Given the description of an element on the screen output the (x, y) to click on. 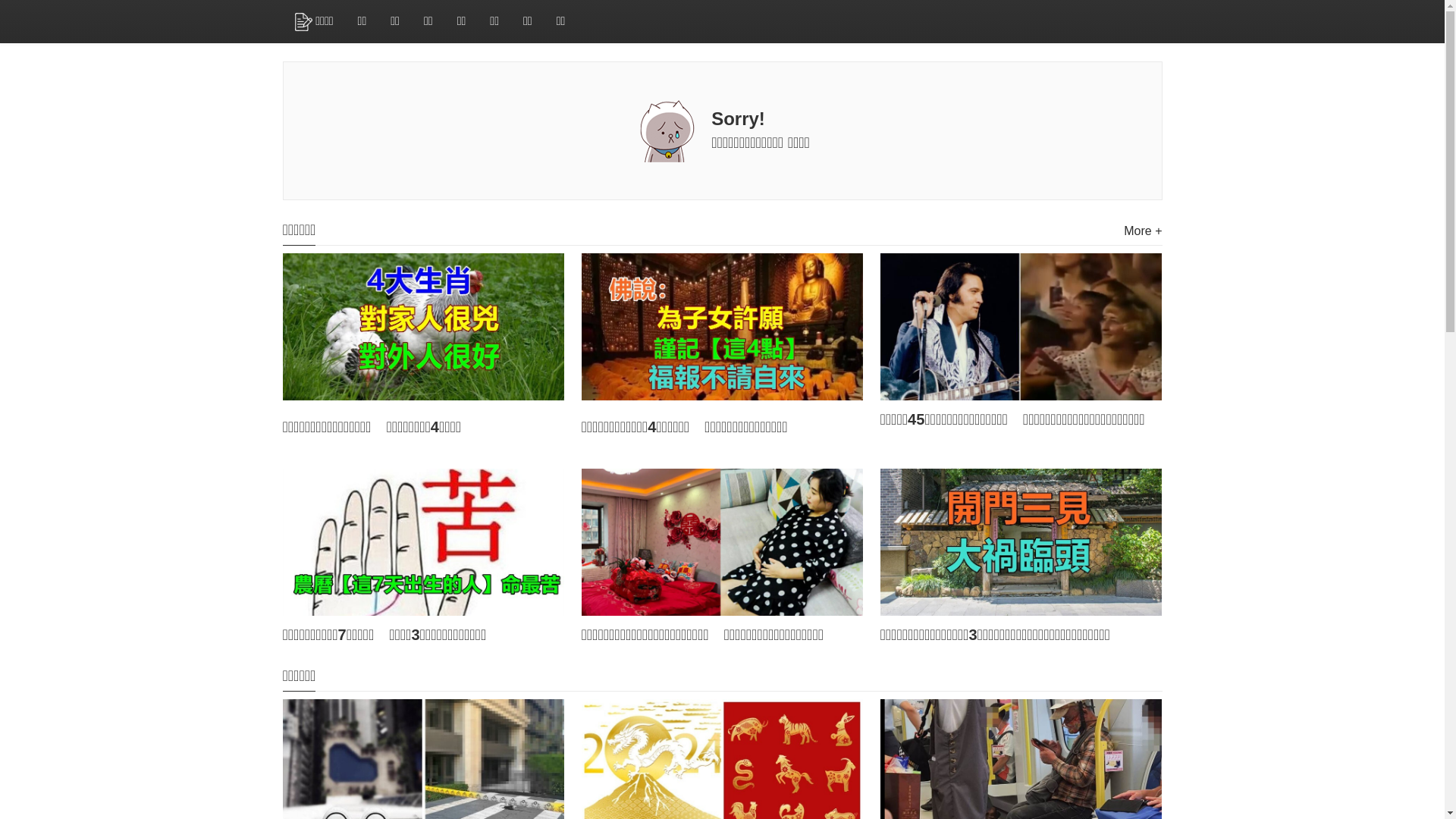
More + Element type: text (1142, 231)
